Given the description of an element on the screen output the (x, y) to click on. 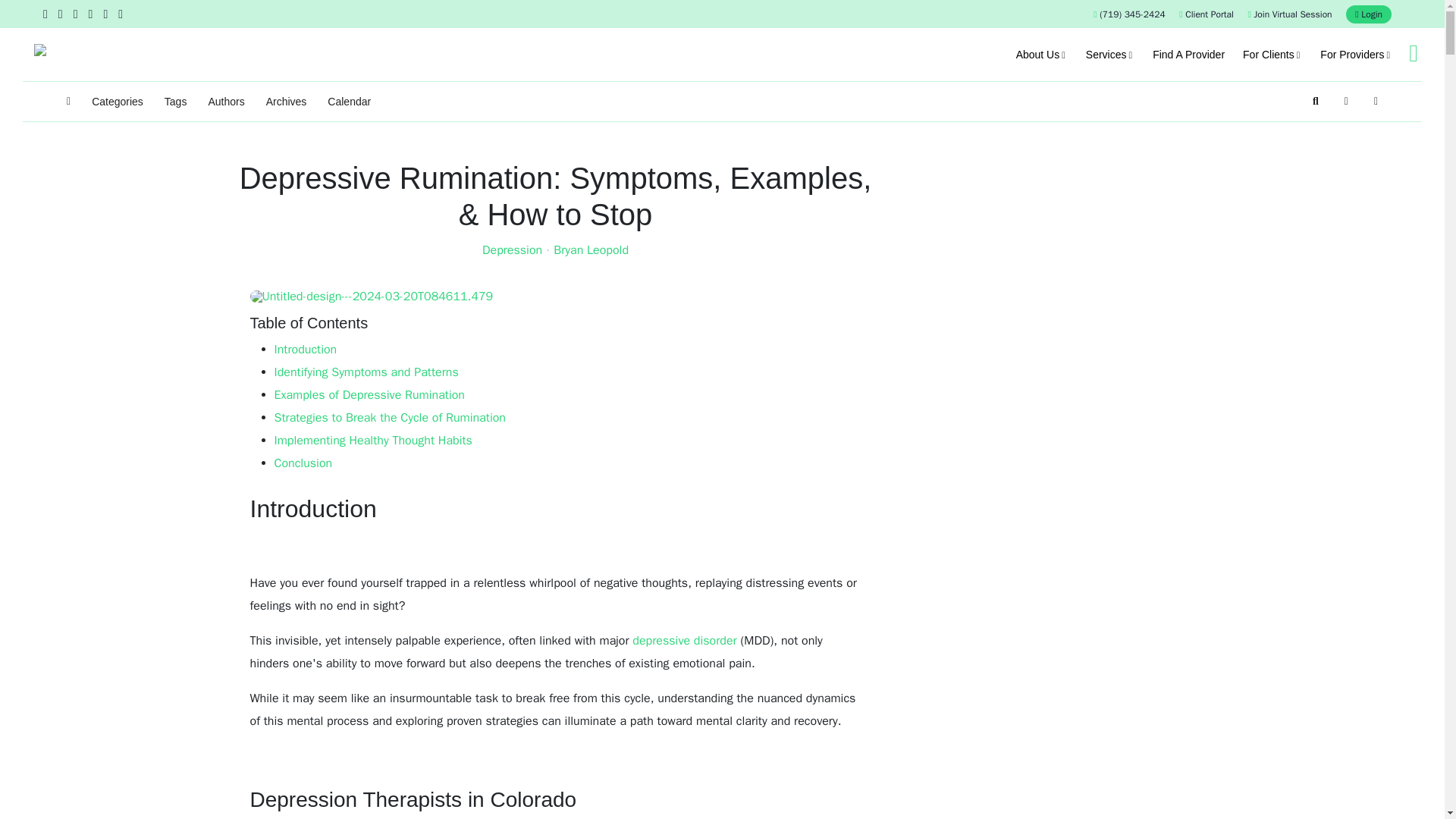
Client Portal (1206, 14)
Archives (286, 101)
About Us (1042, 54)
For Clients (1272, 54)
Untitled-design---2024-03-20T084611.479 (555, 296)
Menu (1412, 52)
Tags (175, 101)
Authors (225, 101)
Find A Provider (1187, 54)
Calendar (348, 101)
Join Virtual Session (1289, 14)
Login (1368, 13)
Services (1109, 54)
Categories (116, 101)
